Given the description of an element on the screen output the (x, y) to click on. 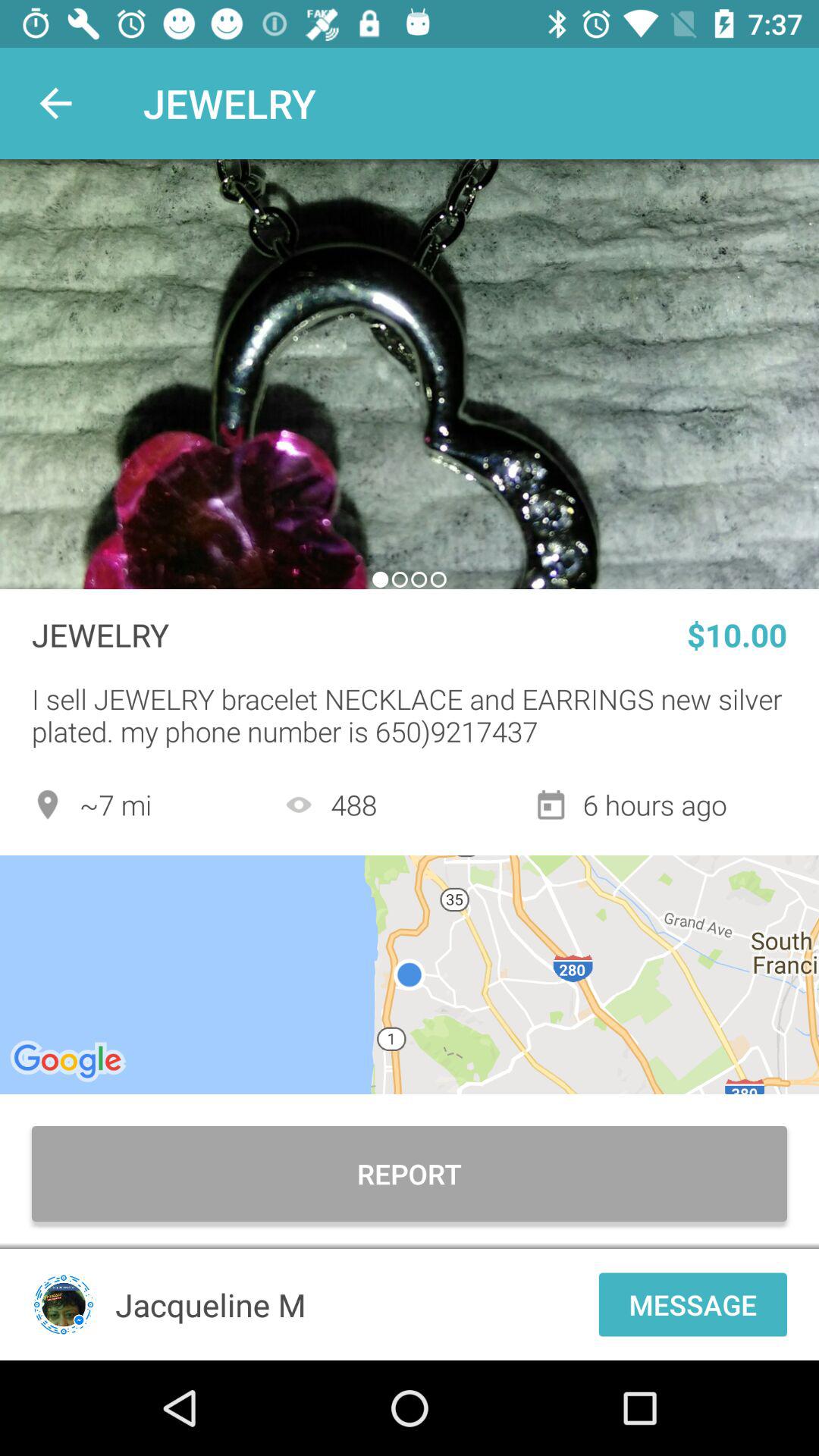
view user profile (63, 1304)
